Given the description of an element on the screen output the (x, y) to click on. 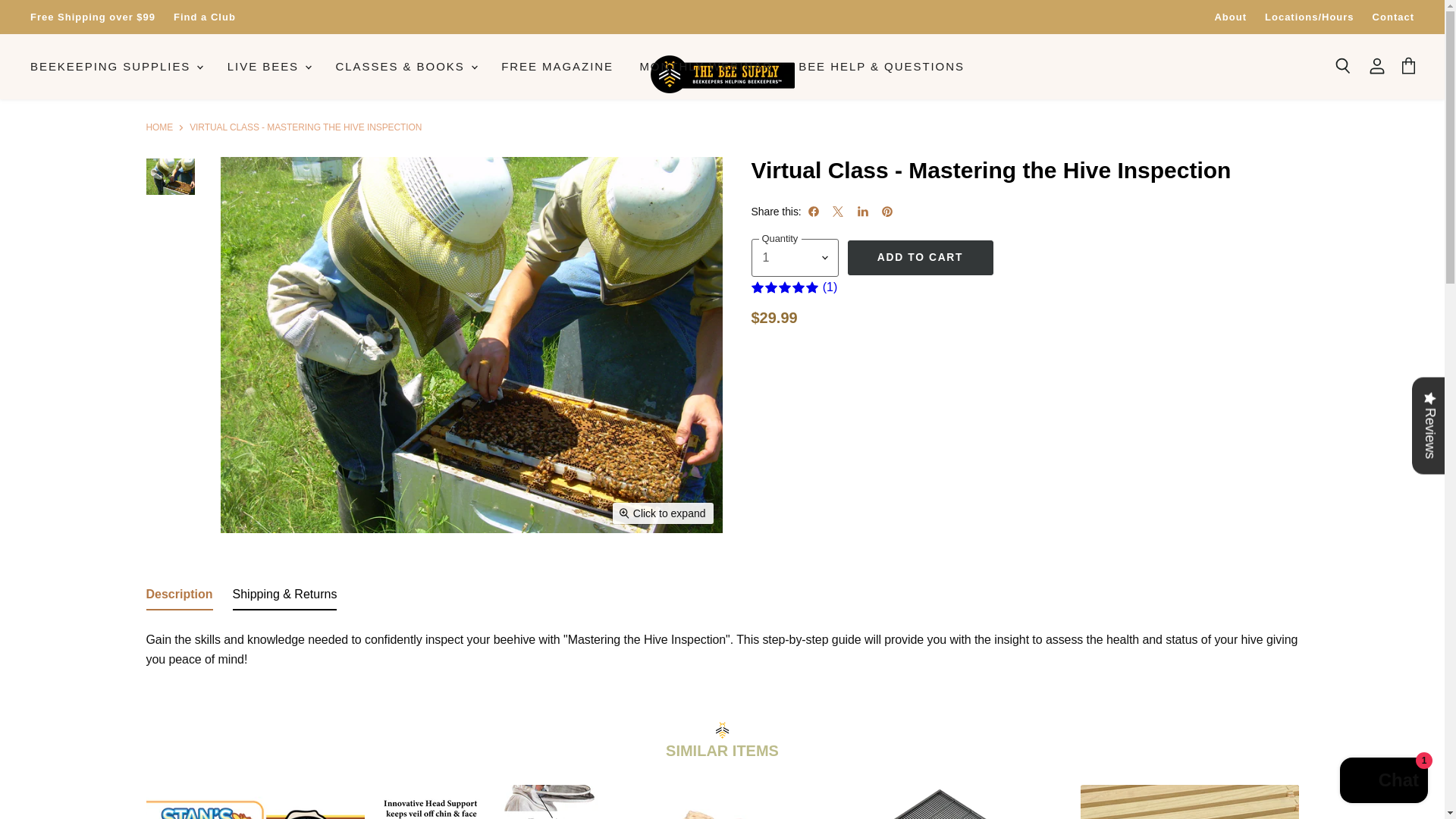
BEEKEEPING SUPPLIES (115, 66)
Contact (1393, 17)
Find a Club (204, 17)
About (1230, 17)
